Given the description of an element on the screen output the (x, y) to click on. 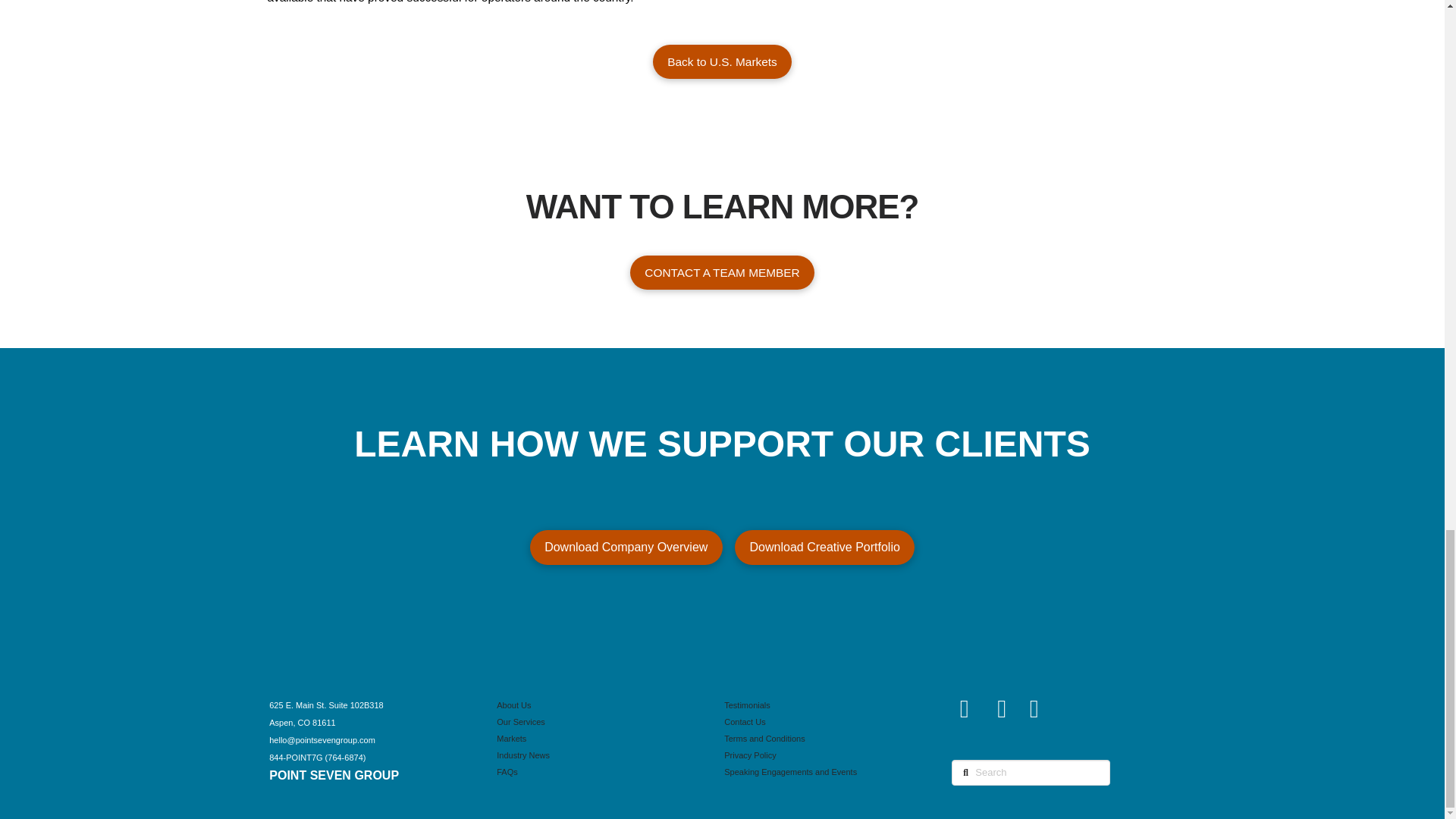
Download Creative Portfolio (825, 547)
CONTACT A TEAM MEMBER (721, 272)
Download Company Overview (625, 547)
Back to U.S. Markets (722, 61)
